Given the description of an element on the screen output the (x, y) to click on. 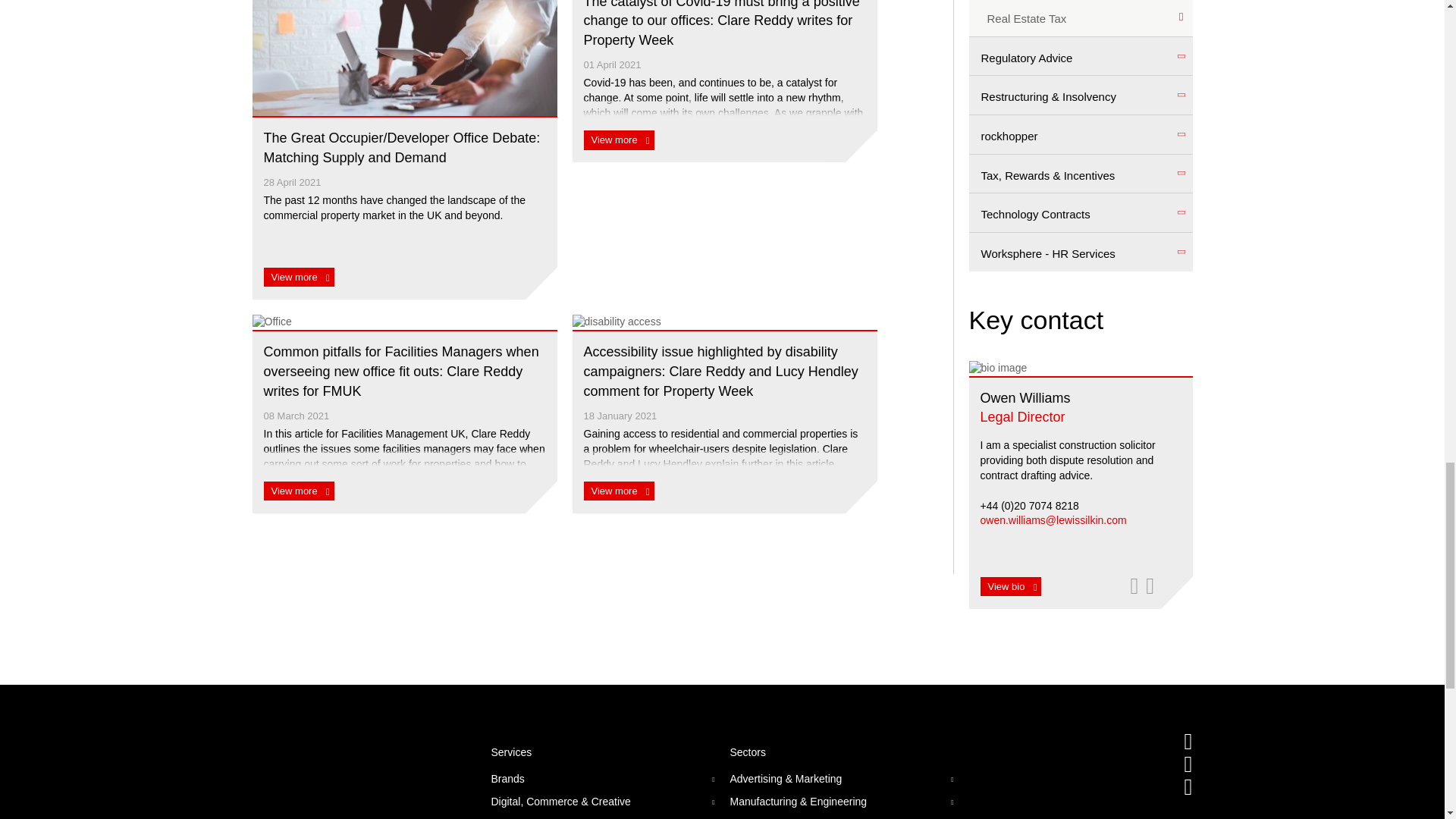
Opens in a new tab (1149, 585)
Opens in a new tab (1188, 786)
Opens in a new tab (1133, 585)
Opens in a new tab (1188, 740)
Opens in a new tab (1188, 763)
